Given the description of an element on the screen output the (x, y) to click on. 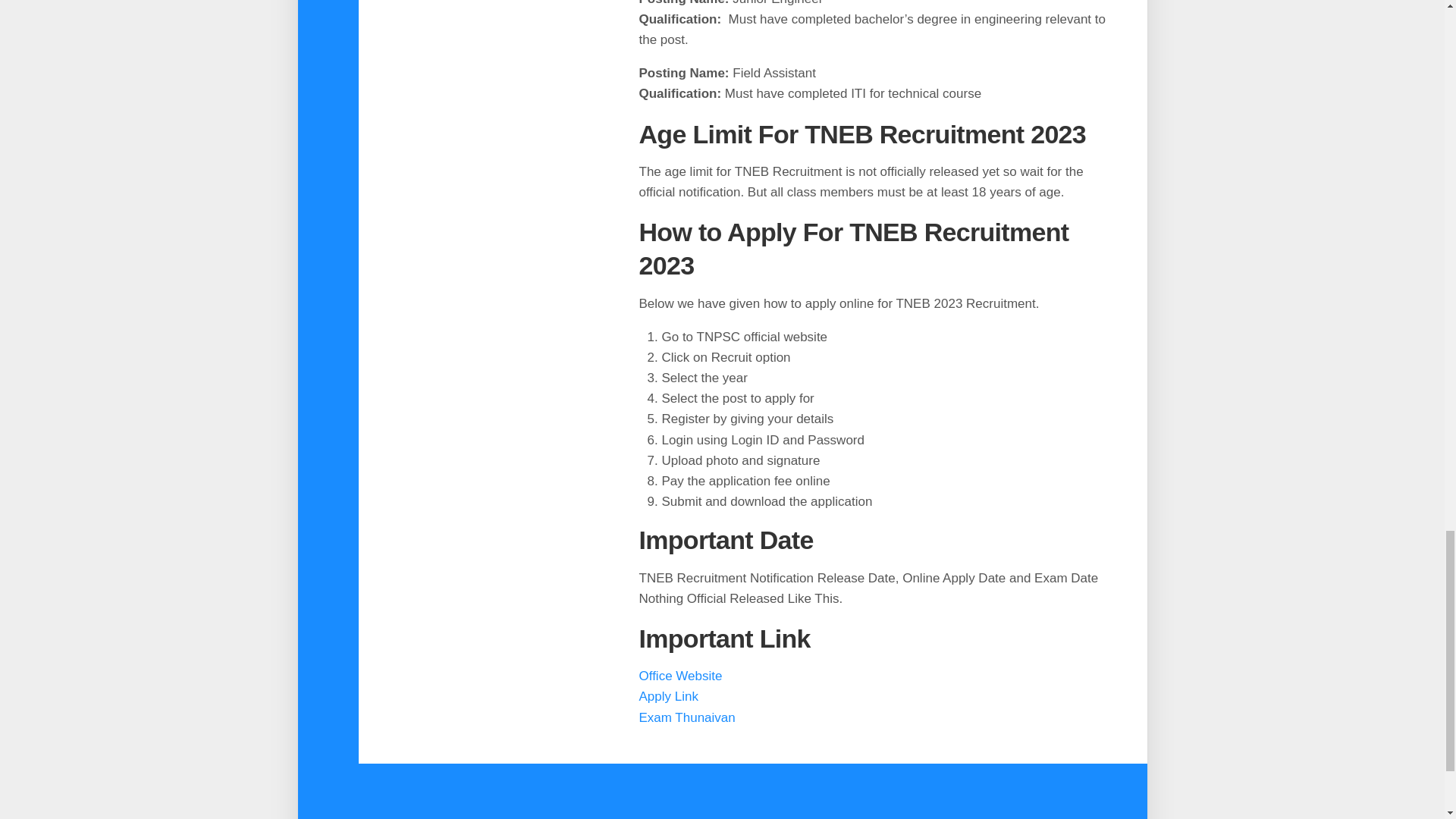
Exam Thunaivan (687, 717)
Office Website (680, 676)
Apply Link (668, 696)
